Given the description of an element on the screen output the (x, y) to click on. 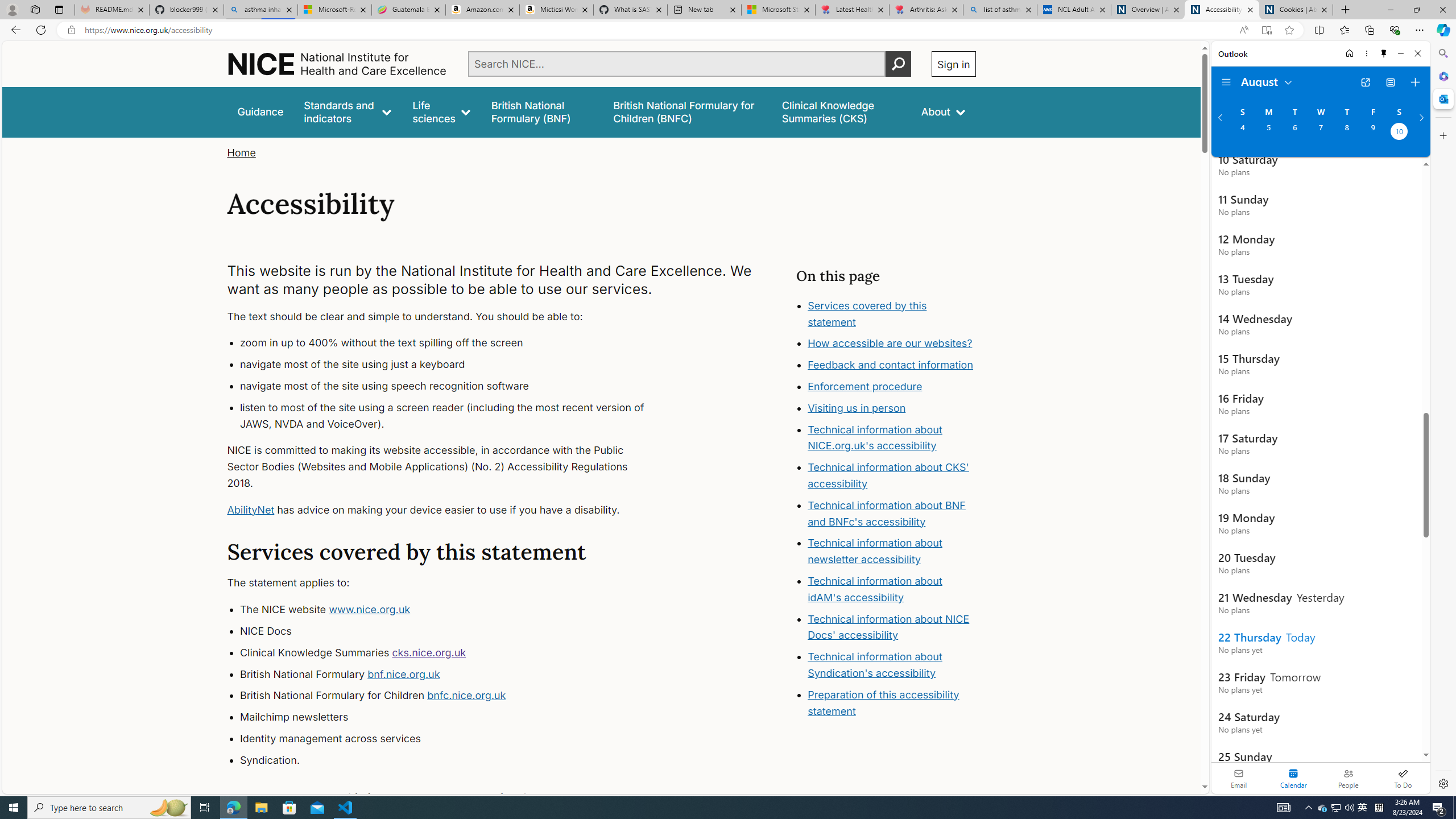
British National Formulary for Children (BNFC) (686, 111)
Enforcement procedure (891, 386)
Identity management across services (452, 738)
bnf.nice.org.uk (402, 673)
Visiting us in person (891, 407)
Syndication. (452, 760)
Visiting us in person (856, 407)
